Given the description of an element on the screen output the (x, y) to click on. 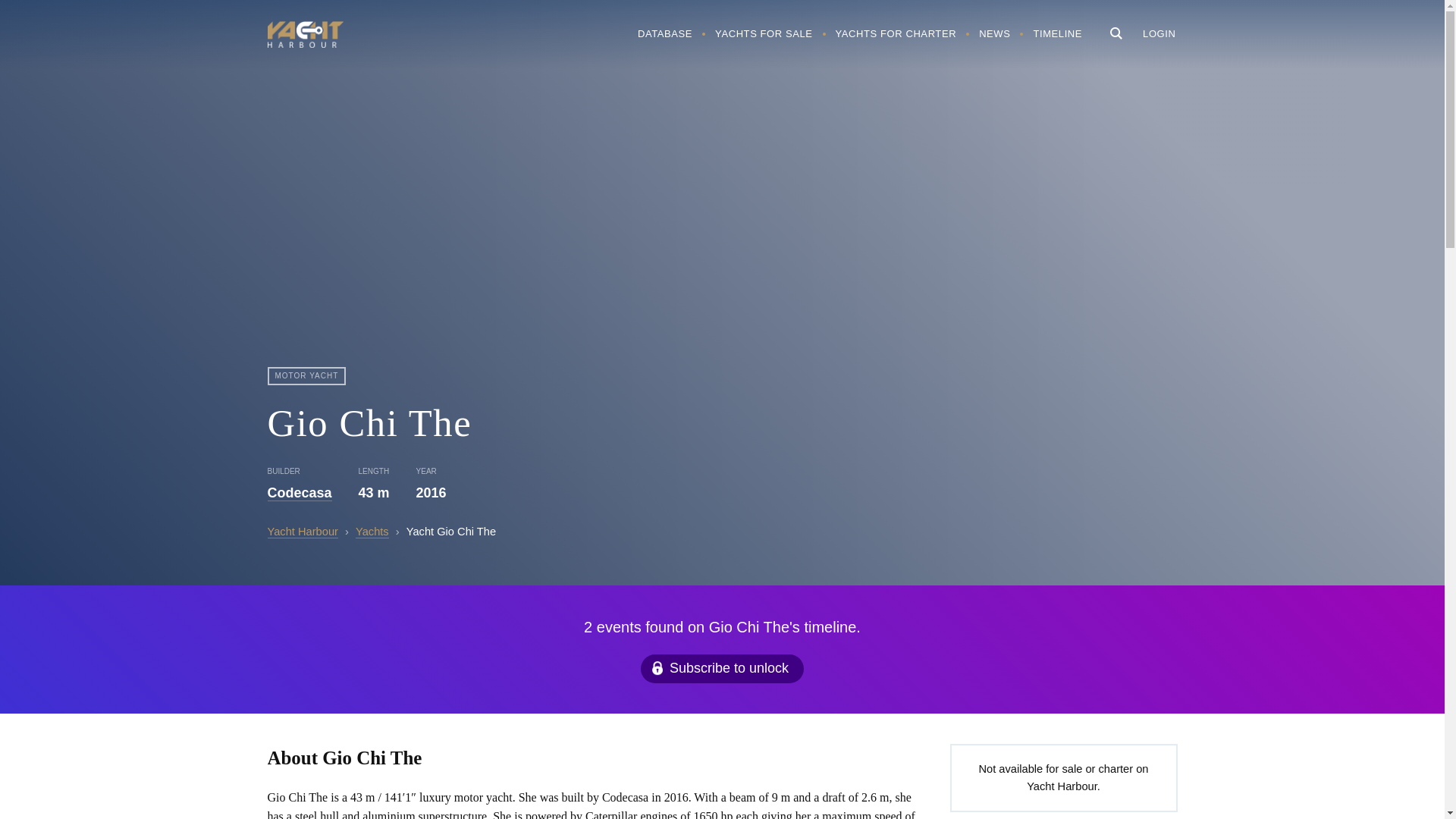
Yacht Harbour (304, 36)
TIMELINE (1057, 33)
YACHTS FOR CHARTER (896, 33)
Yacht Harbour (301, 531)
Subscribe to unlock (721, 668)
YACHTS FOR SALE (763, 33)
Codecasa (298, 493)
NEWS (995, 33)
Yachts (371, 531)
DATABASE (664, 33)
